Given the description of an element on the screen output the (x, y) to click on. 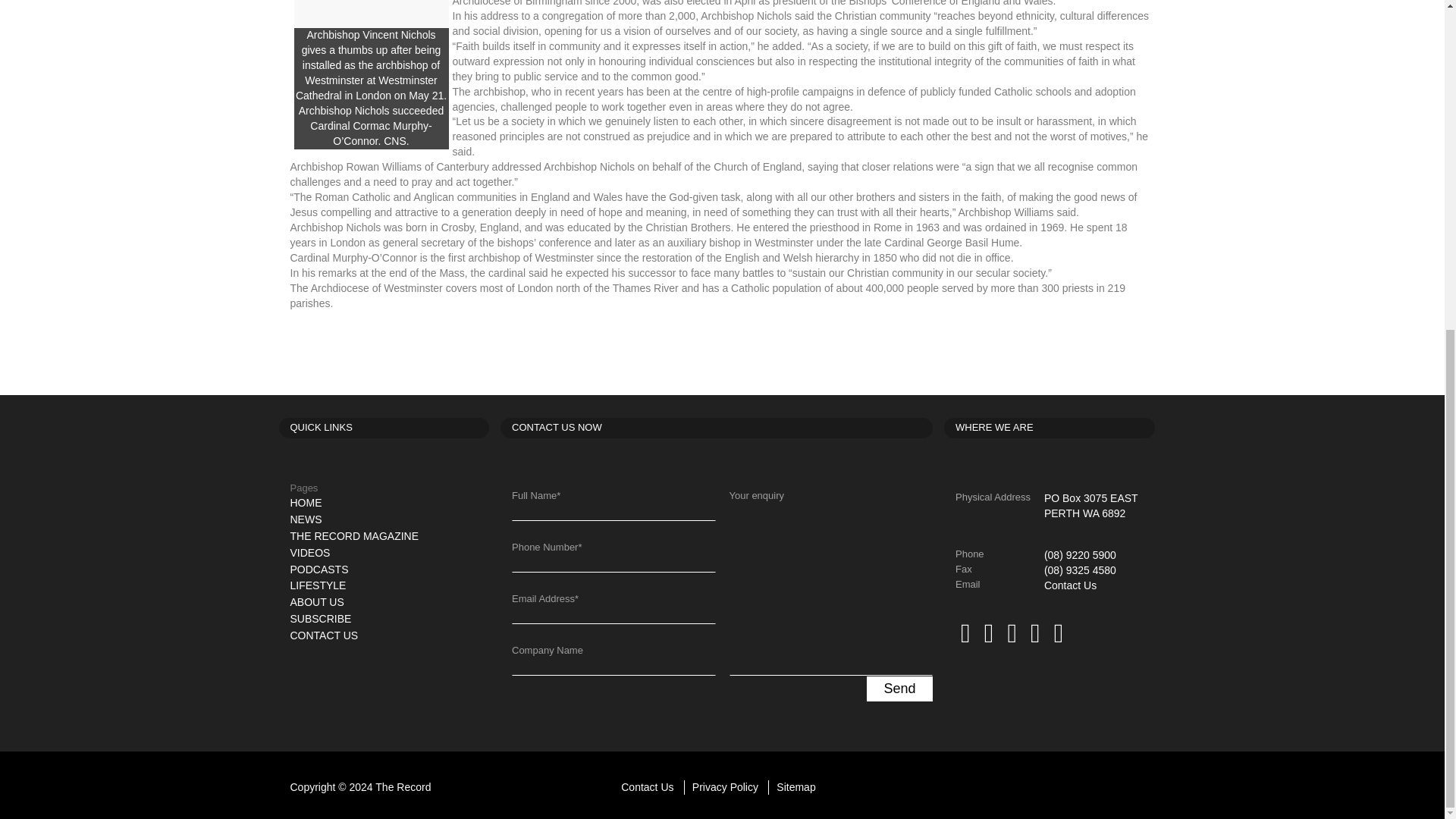
Send (899, 688)
